Given the description of an element on the screen output the (x, y) to click on. 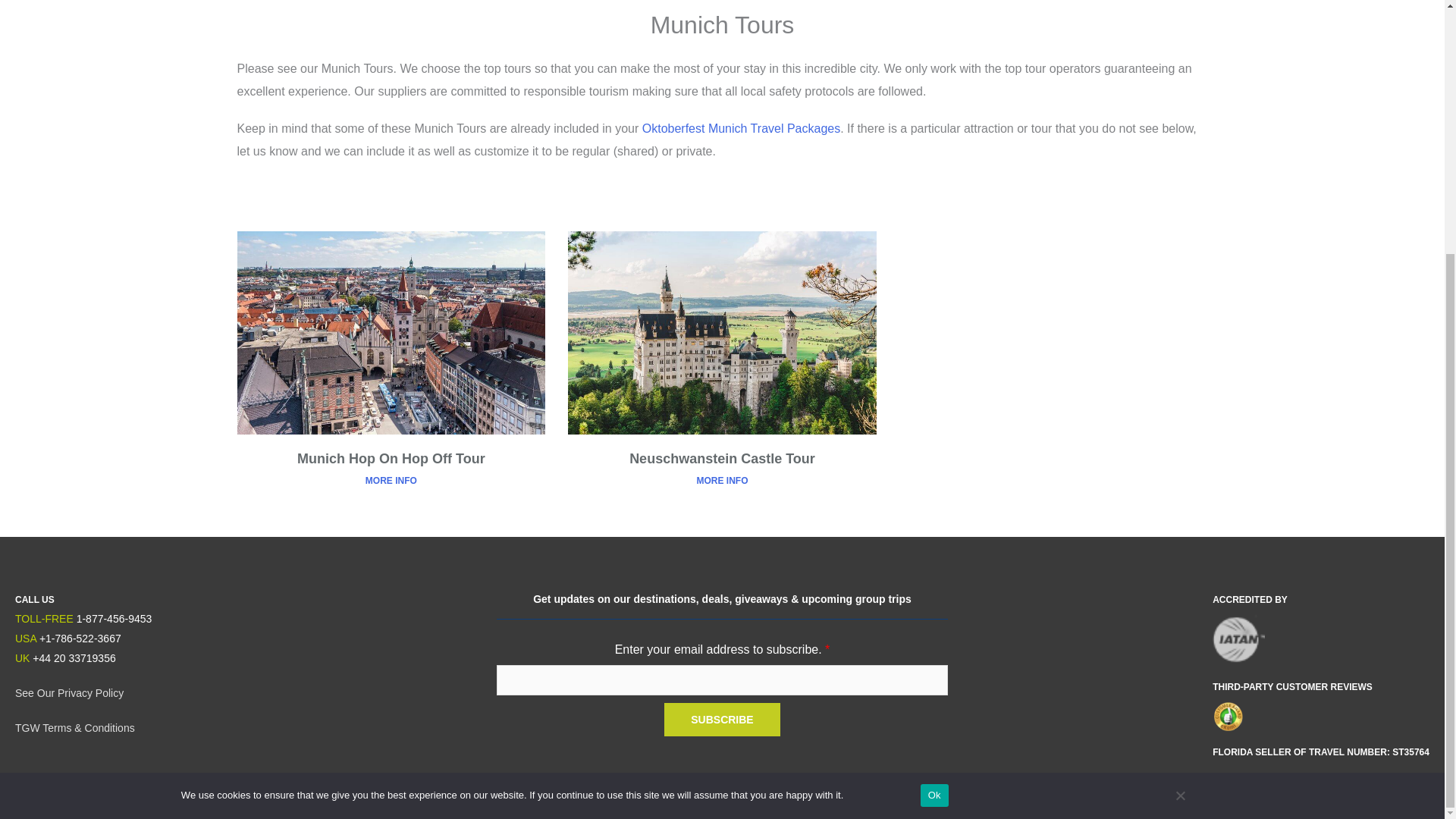
No (1180, 436)
